Given the description of an element on the screen output the (x, y) to click on. 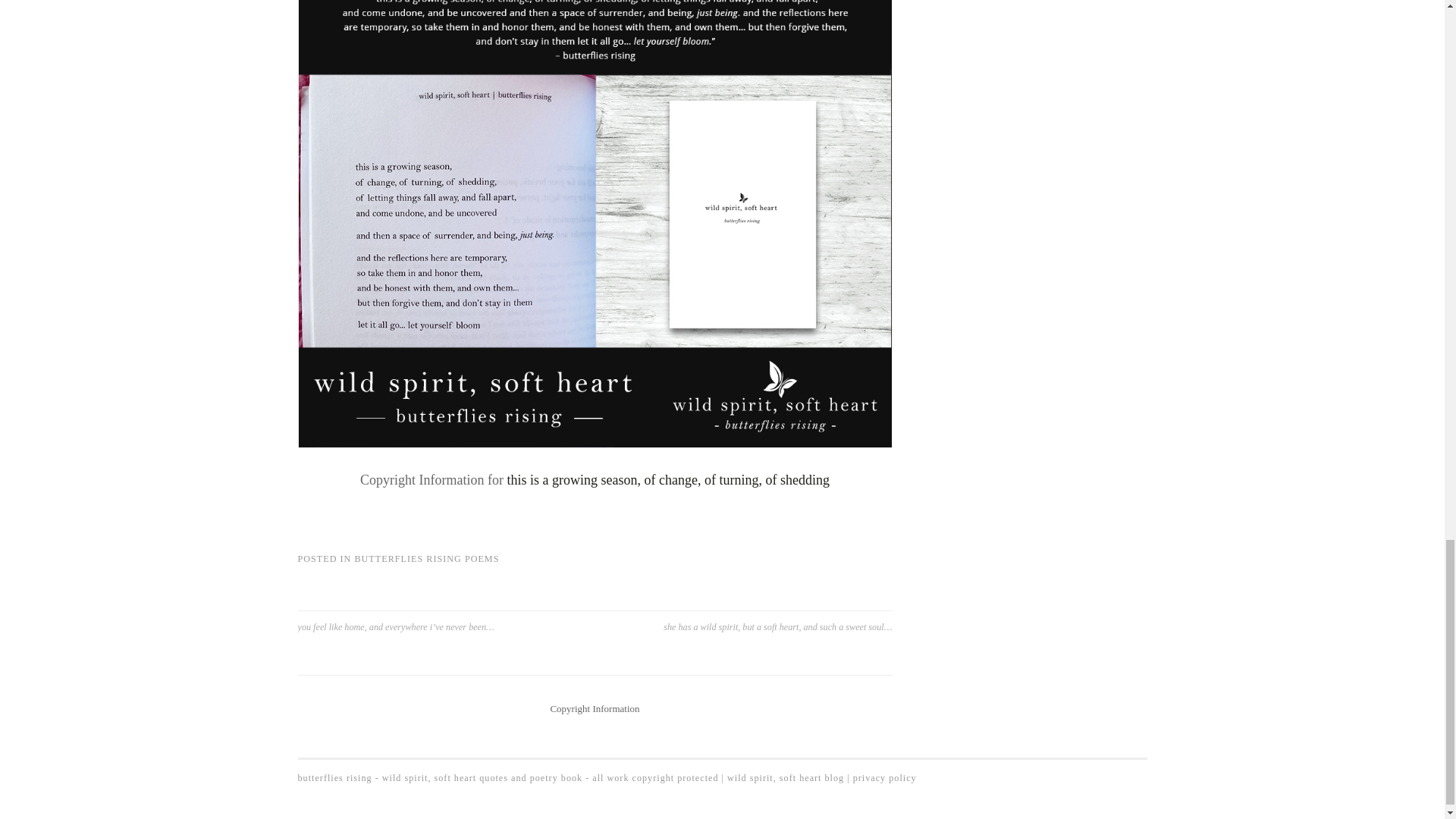
this is a growing season, of change, of turning, of shedding (667, 479)
Copyright And Content Information (594, 708)
Copyright Information (594, 708)
wild spirit, soft heart blog (785, 777)
this is a growing season, of change, of turning, of shedding (667, 479)
wild spirit, soft heart (885, 777)
privacy policy (885, 777)
wild spirit, soft heart blog (785, 777)
BUTTERFLIES RISING POEMS (426, 558)
